Given the description of an element on the screen output the (x, y) to click on. 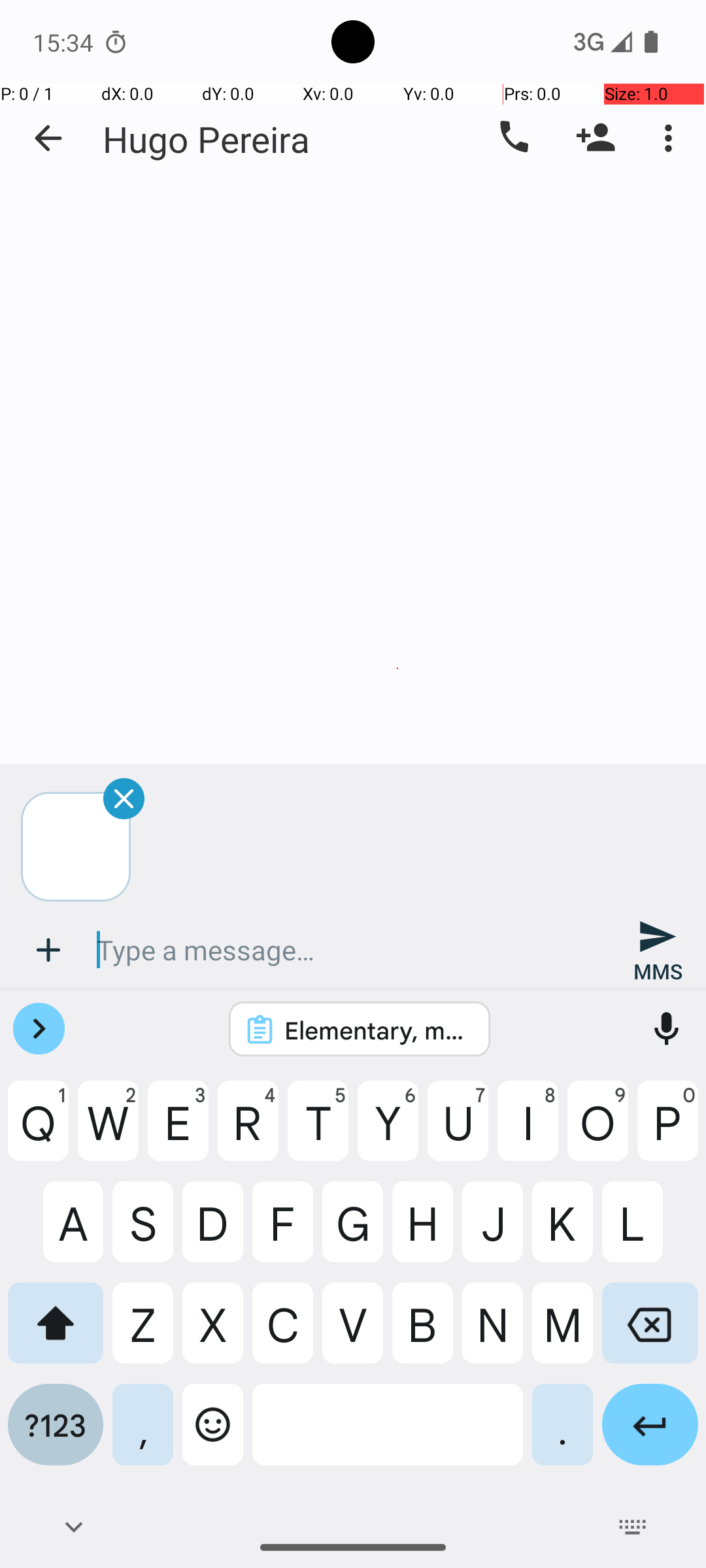
MMS Element type: android.widget.Button (657, 949)
Elementary, my dear Watson. Element type: android.widget.TextView (376, 1029)
